Given the description of an element on the screen output the (x, y) to click on. 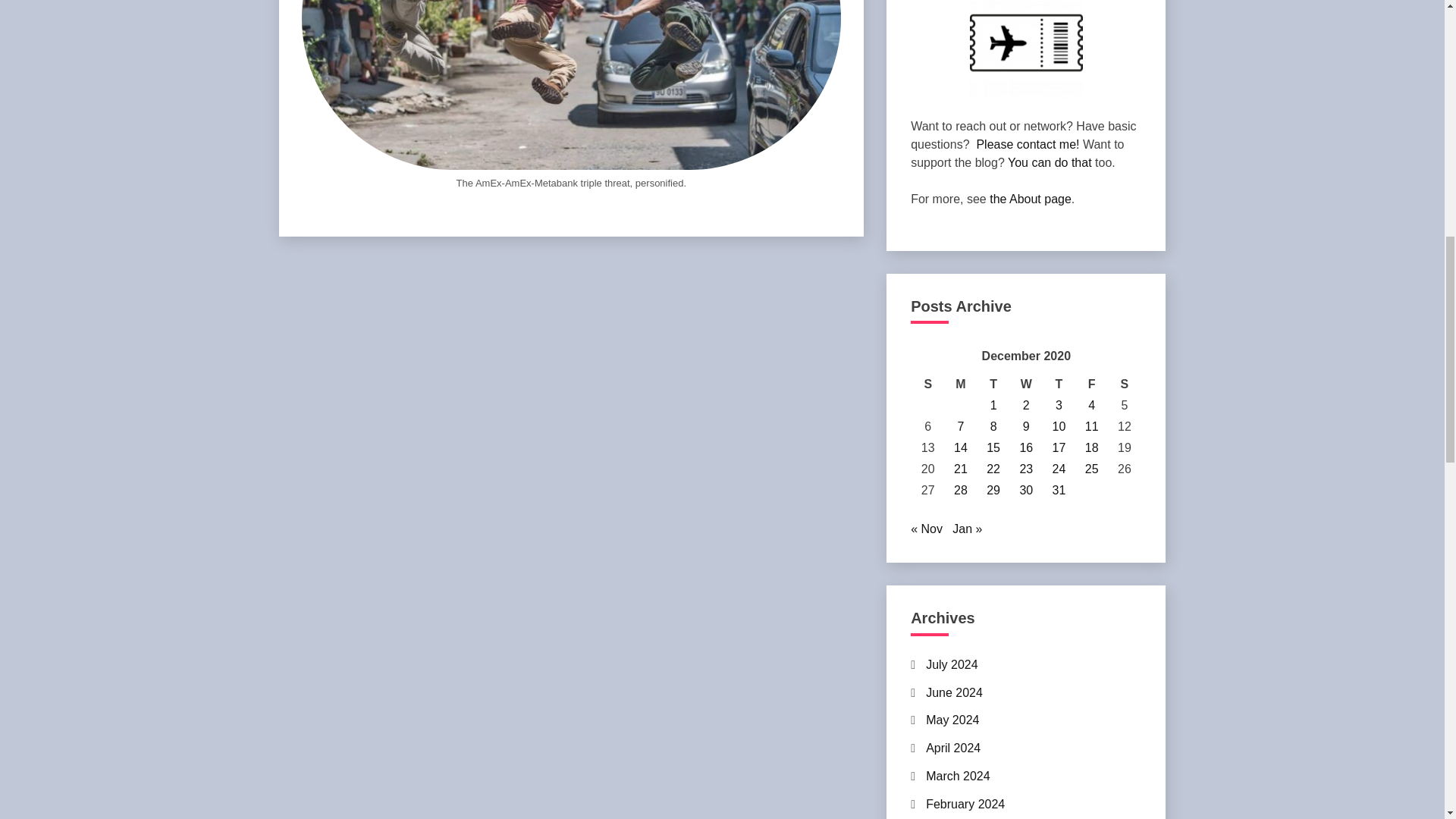
You can do that (1049, 162)
Tuesday (993, 383)
Thursday (1058, 383)
the About page (1030, 198)
Sunday (927, 383)
Saturday (1124, 383)
Friday (1090, 383)
Monday (959, 383)
Wednesday (1026, 383)
Please contact me! (1026, 144)
